Given the description of an element on the screen output the (x, y) to click on. 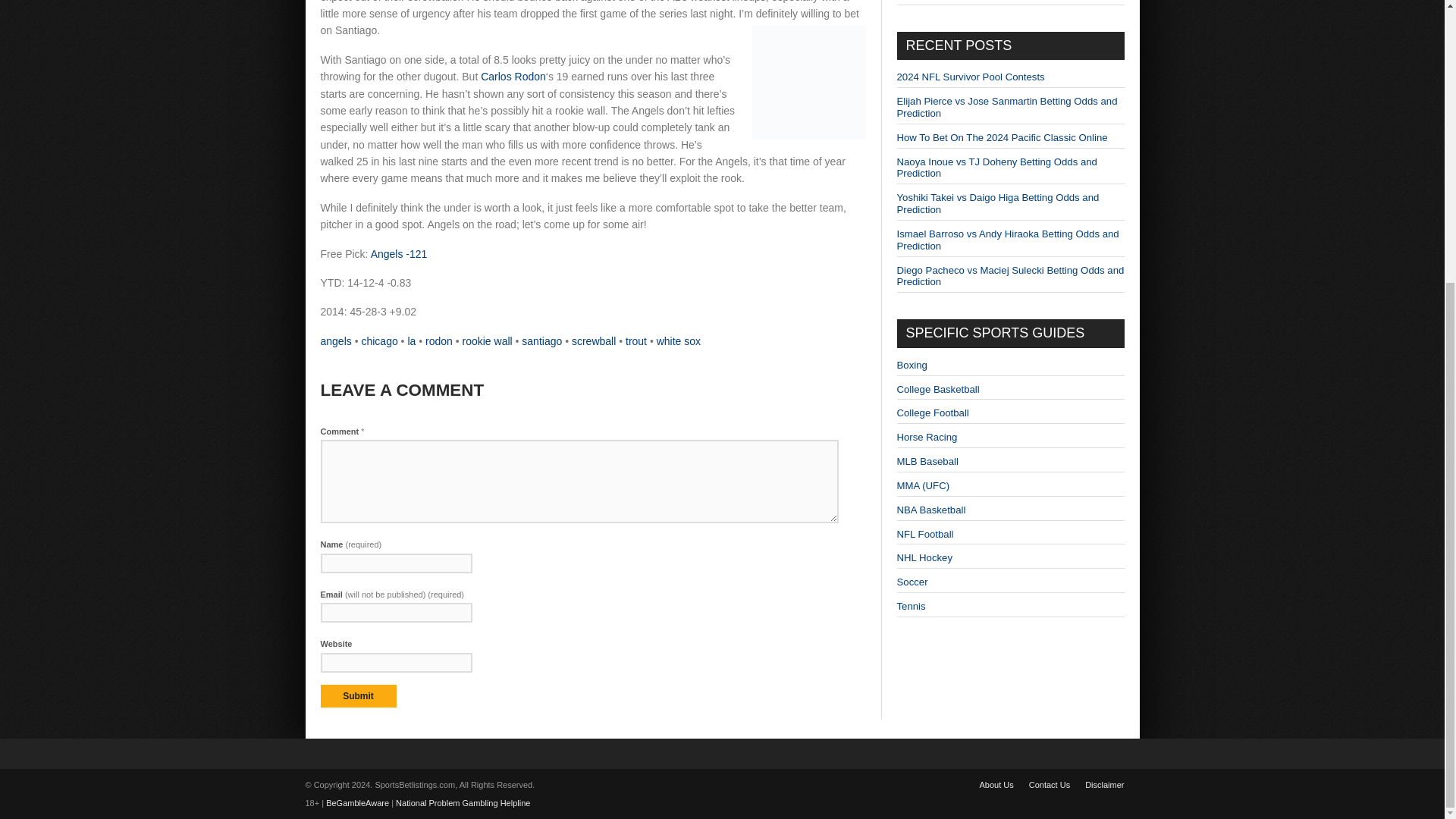
rodon (438, 340)
NFL Betting (924, 533)
santiago (541, 340)
white sox (678, 340)
rookie wall (487, 340)
trout (636, 340)
NCAA Football Betting (932, 412)
MMA Betting (922, 485)
NHL Betting (924, 557)
Boxing Betting (911, 365)
